Given the description of an element on the screen output the (x, y) to click on. 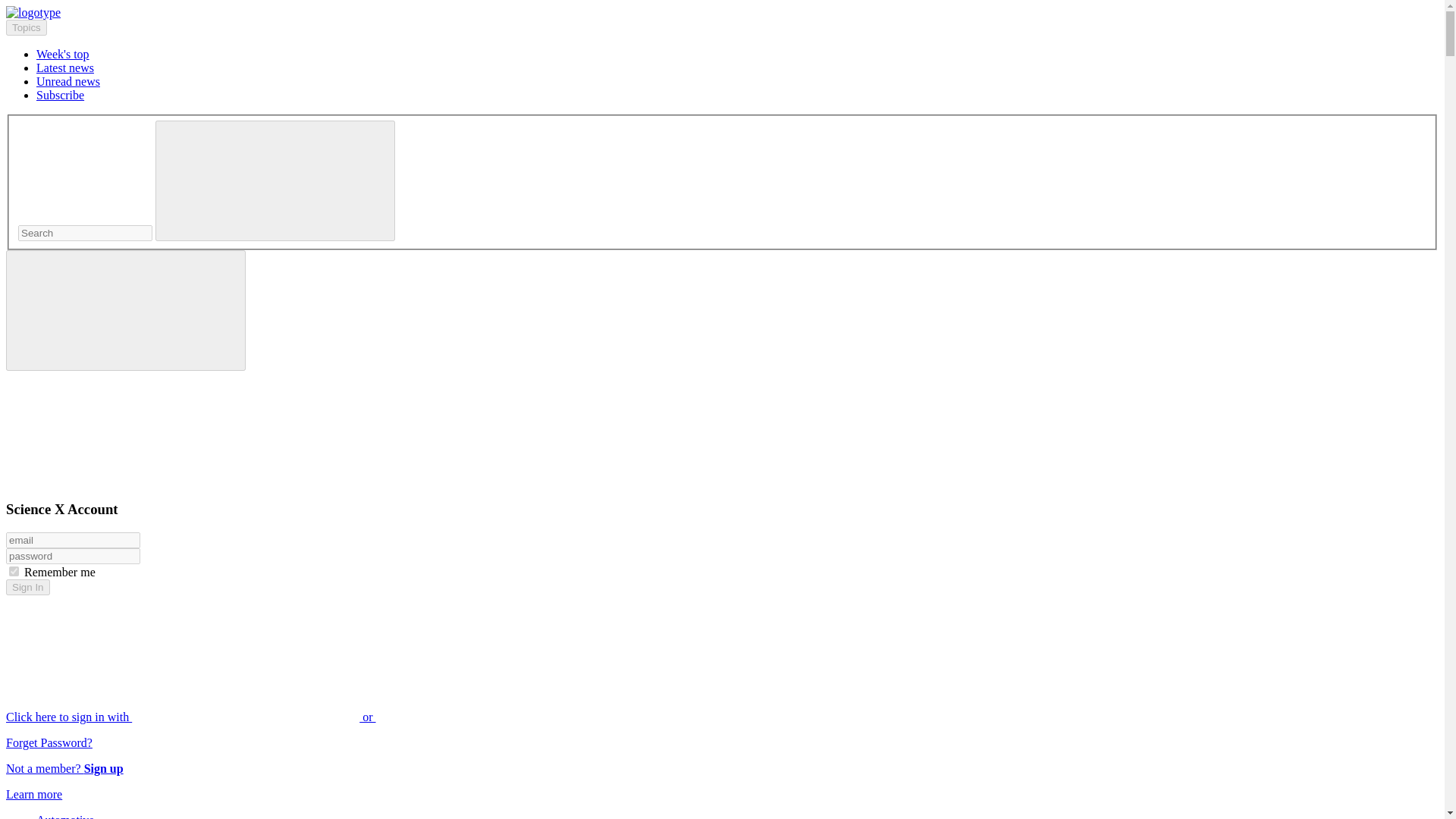
Unread news (68, 81)
Latest news (65, 67)
on (13, 571)
Week's top (62, 53)
Not a member? Sign up (64, 768)
Subscribe (60, 94)
Topics (25, 27)
Forget Password? (49, 742)
Learn more (33, 793)
Click here to sign in with or (304, 716)
Automotive (65, 816)
Sign In (27, 587)
